Given the description of an element on the screen output the (x, y) to click on. 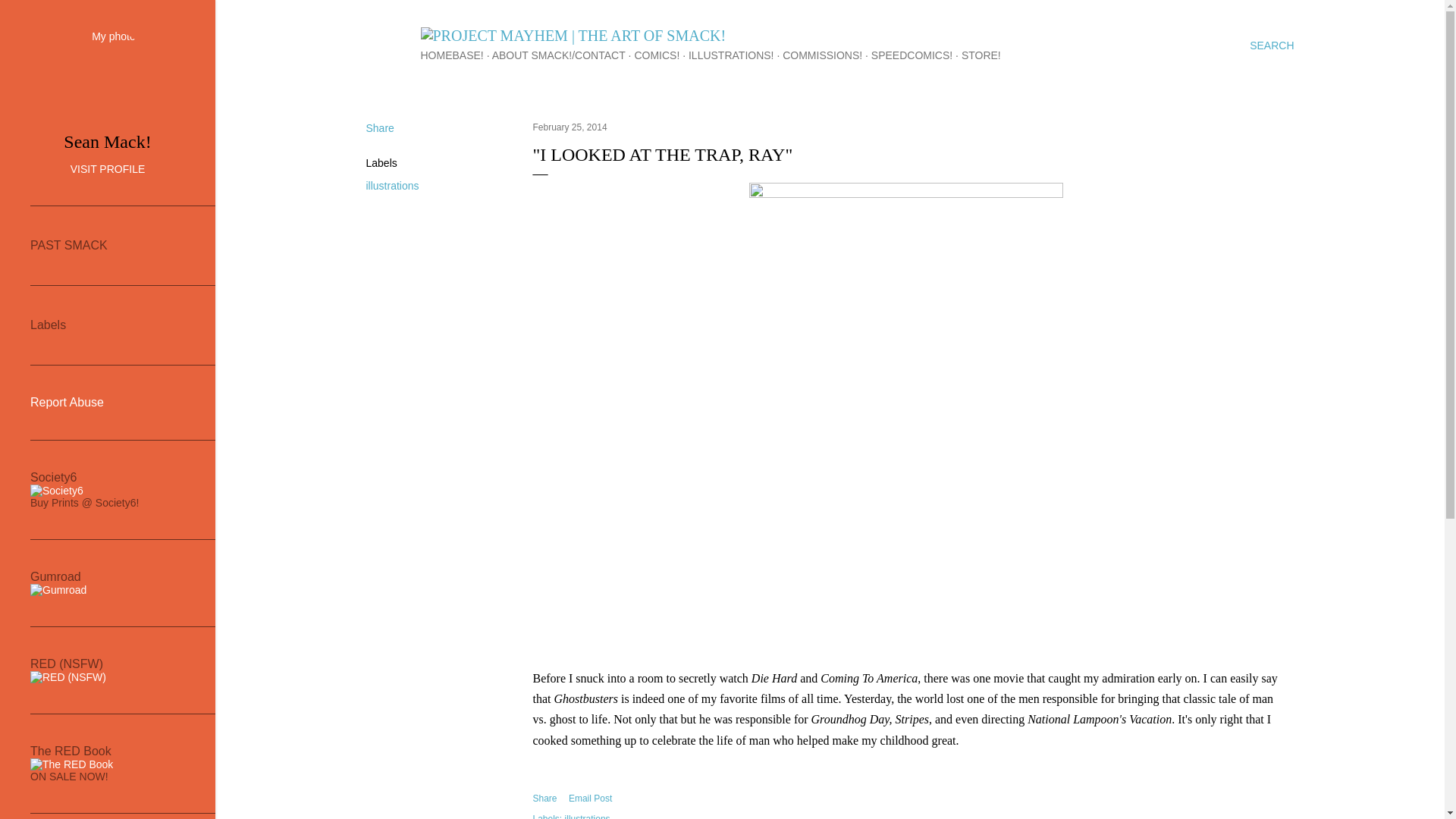
February 25, 2014 (569, 127)
illustrations (392, 185)
COMICS! (656, 55)
Email Post (589, 798)
COMMISSIONS! (822, 55)
HOMEBASE! (451, 55)
Share (544, 798)
Share (379, 128)
SEARCH (1271, 45)
SPEEDCOMICS! (911, 55)
